Given the description of an element on the screen output the (x, y) to click on. 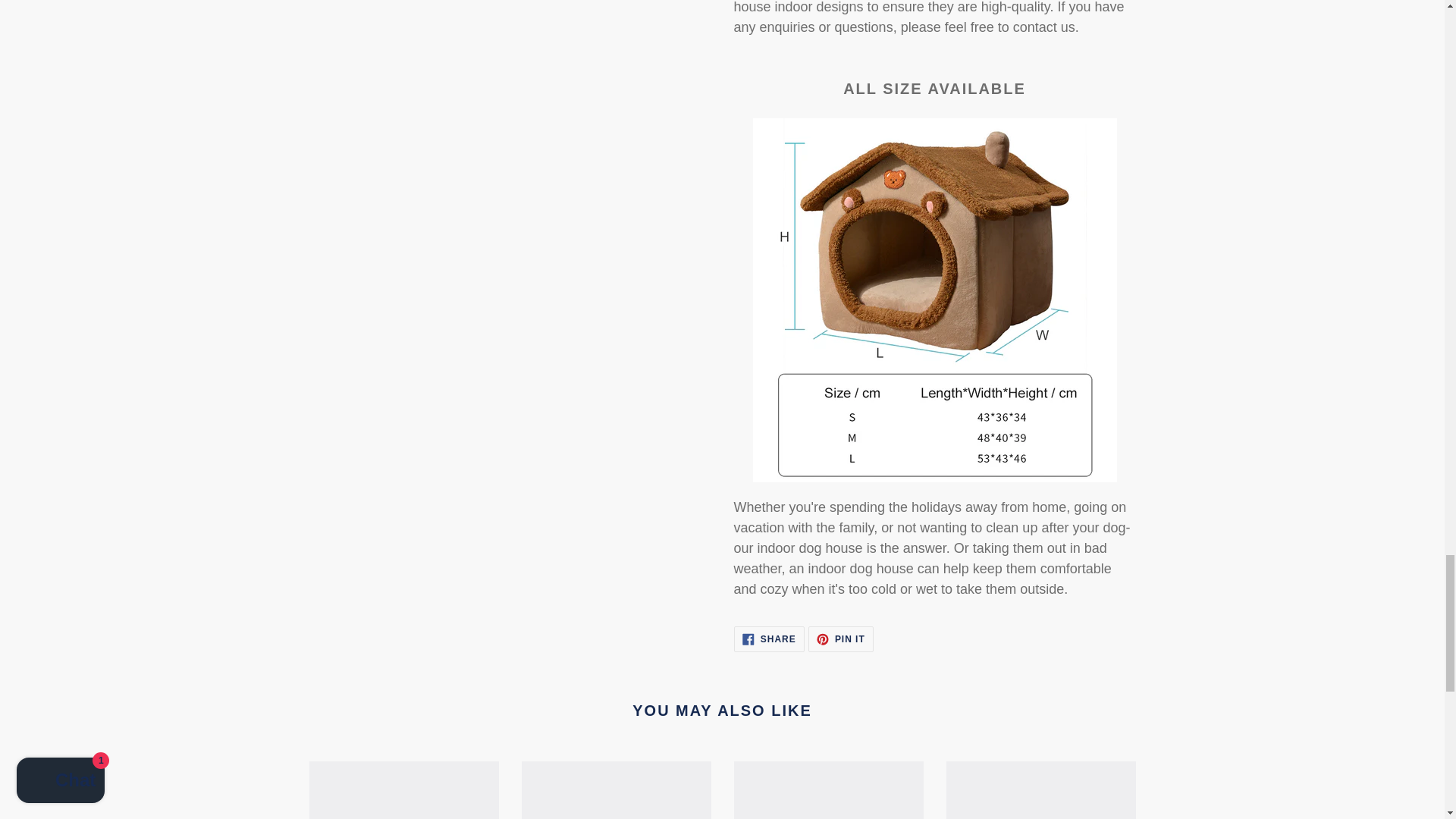
TableChamp Dining Room Chairs Mexico Solid Wood Pine (840, 638)
TableChamp Dining Room Chairs Eukalypto Solid Wood Pine (769, 638)
TableChamp Dining Table with Bench Solid Pine Wood (403, 790)
TableChamp Dining Room Bench Solid Wood Pine (616, 790)
